Given the description of an element on the screen output the (x, y) to click on. 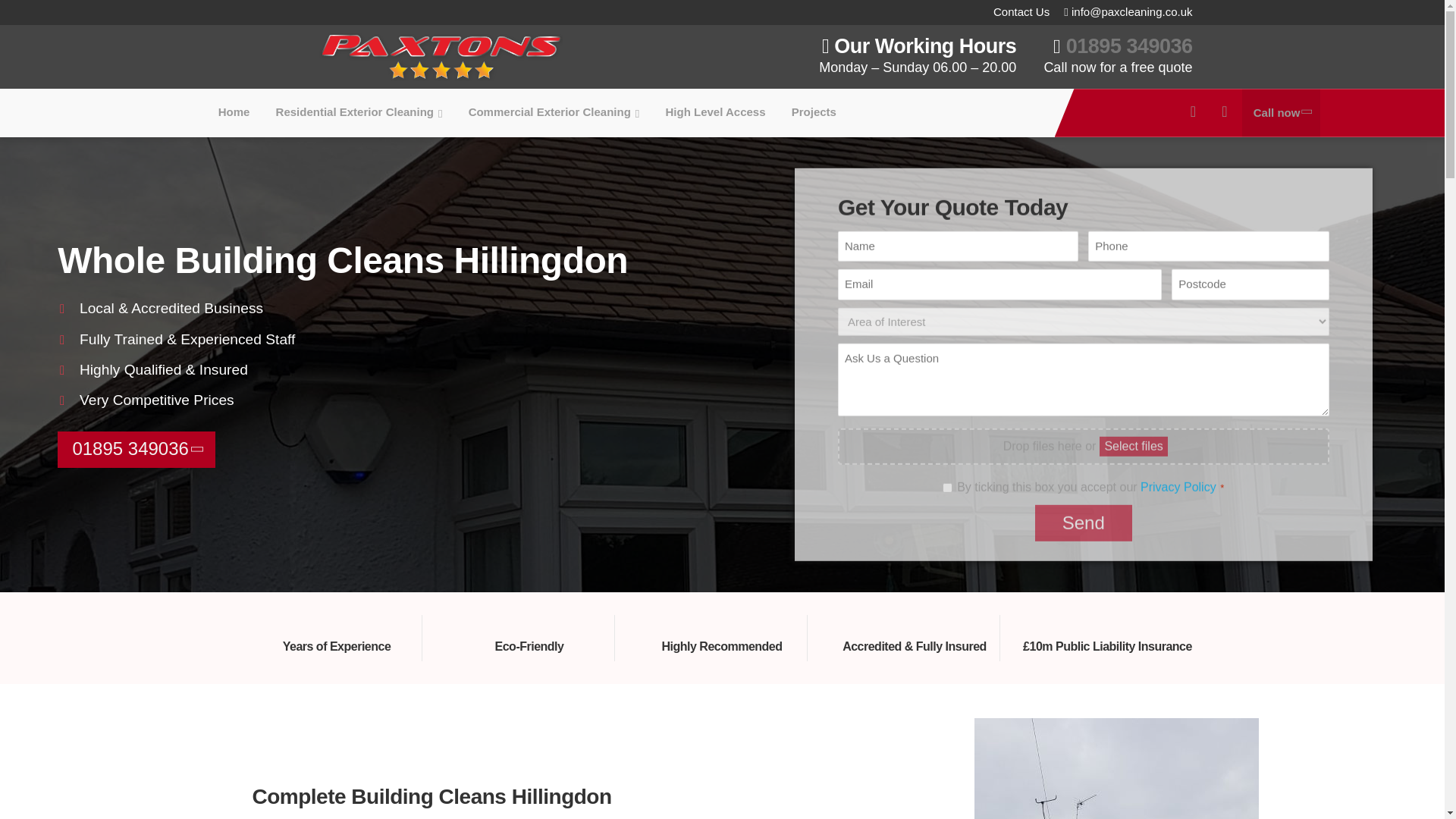
Contact Us (1015, 12)
Call now (1280, 112)
01895 349036 (133, 449)
Send (1083, 523)
1 (947, 488)
Select files (1133, 446)
Send (1083, 523)
Privacy Policy (1177, 486)
01895 349036 (1128, 46)
Commercial Exterior Cleaning (553, 112)
High Level Access (715, 112)
Home (234, 112)
Residential Exterior Cleaning (359, 112)
Projects (813, 112)
